Given the description of an element on the screen output the (x, y) to click on. 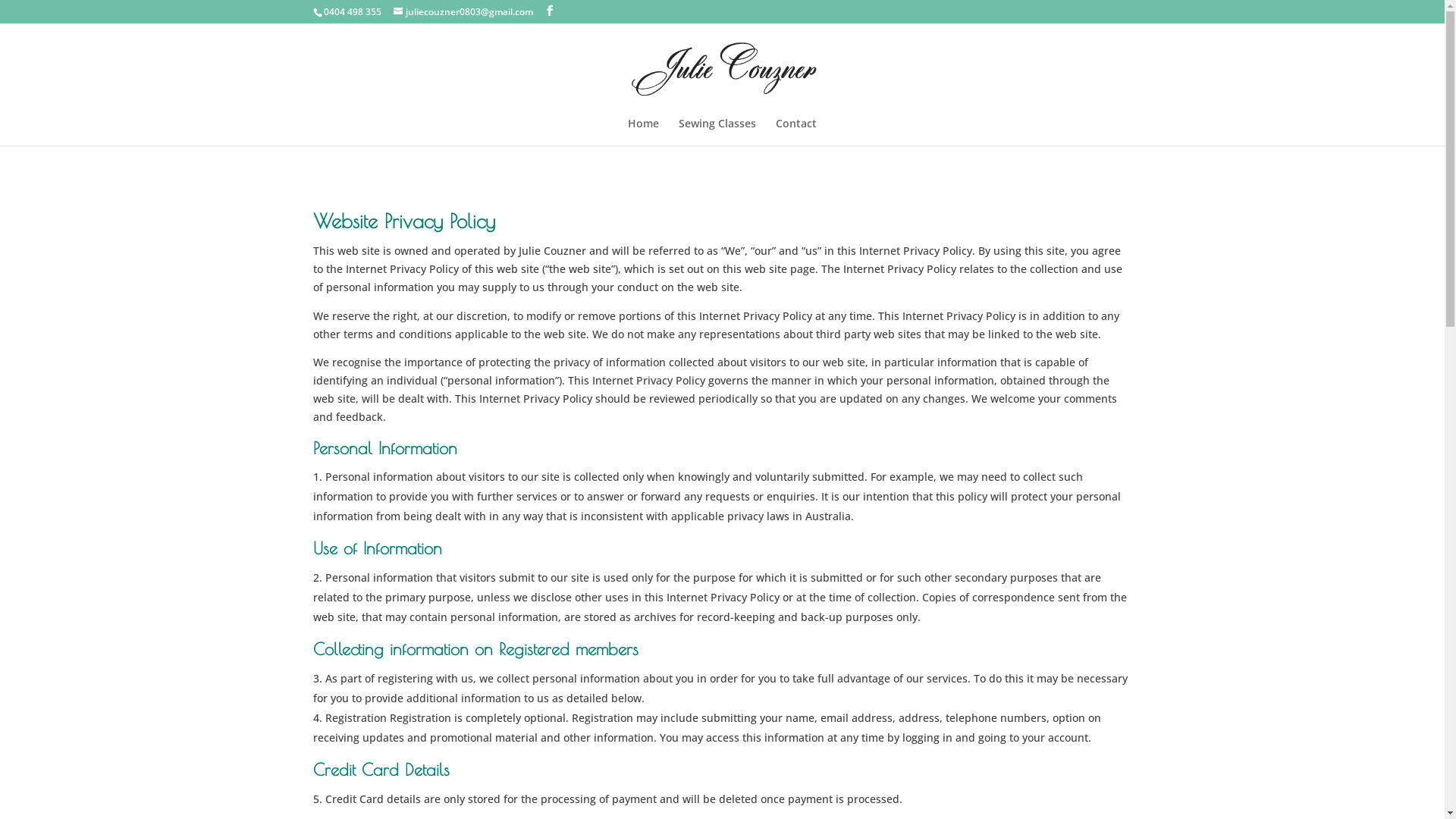
Contact Element type: text (795, 131)
Sewing Classes Element type: text (717, 131)
Home Element type: text (642, 131)
juliecouzner0803@gmail.com Element type: text (462, 11)
